Given the description of an element on the screen output the (x, y) to click on. 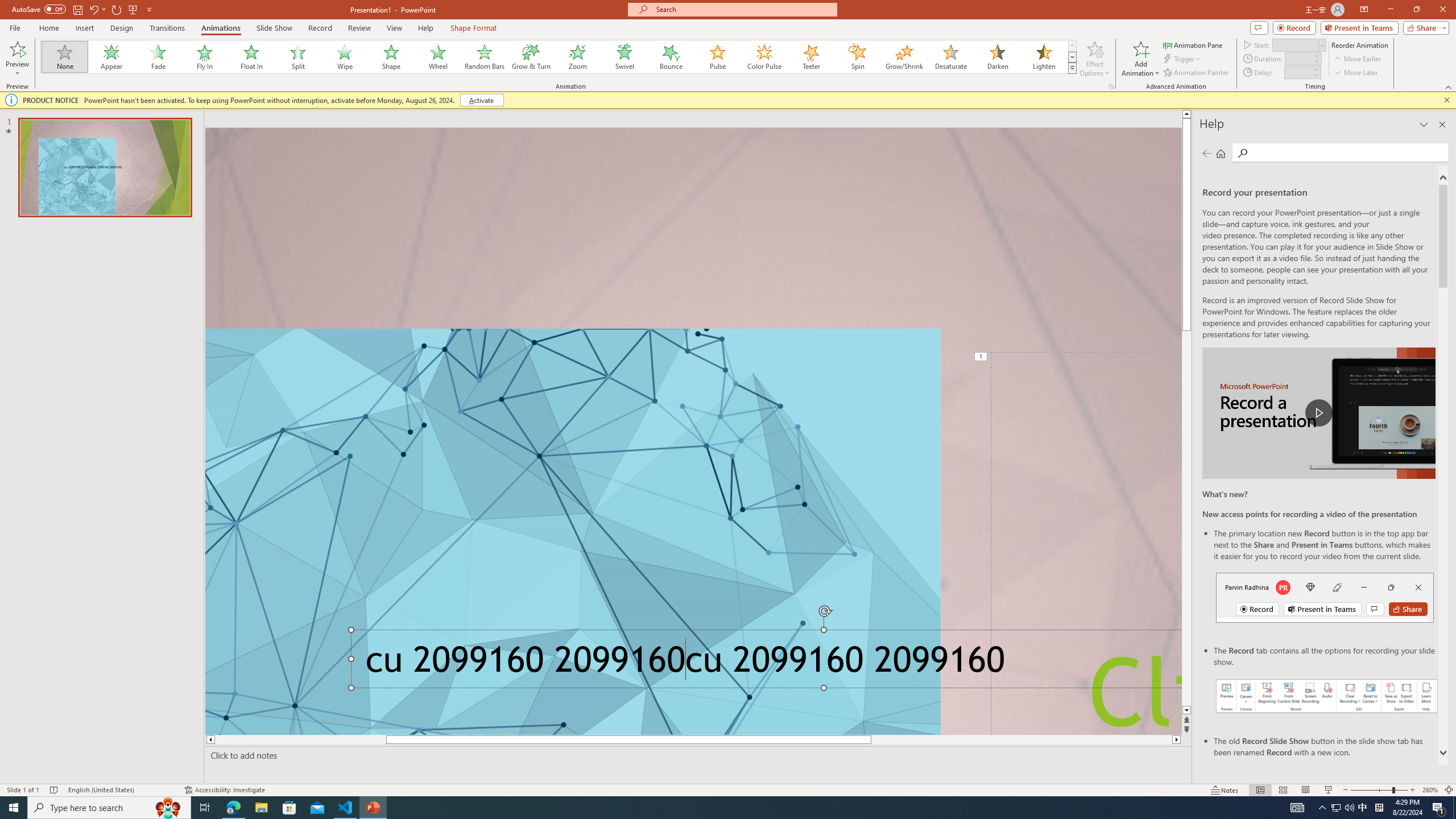
More (1315, 69)
Shape Format (473, 28)
Move Later (1355, 72)
Page up (1186, 209)
Less (1315, 75)
Animation Styles (1071, 67)
